Given the description of an element on the screen output the (x, y) to click on. 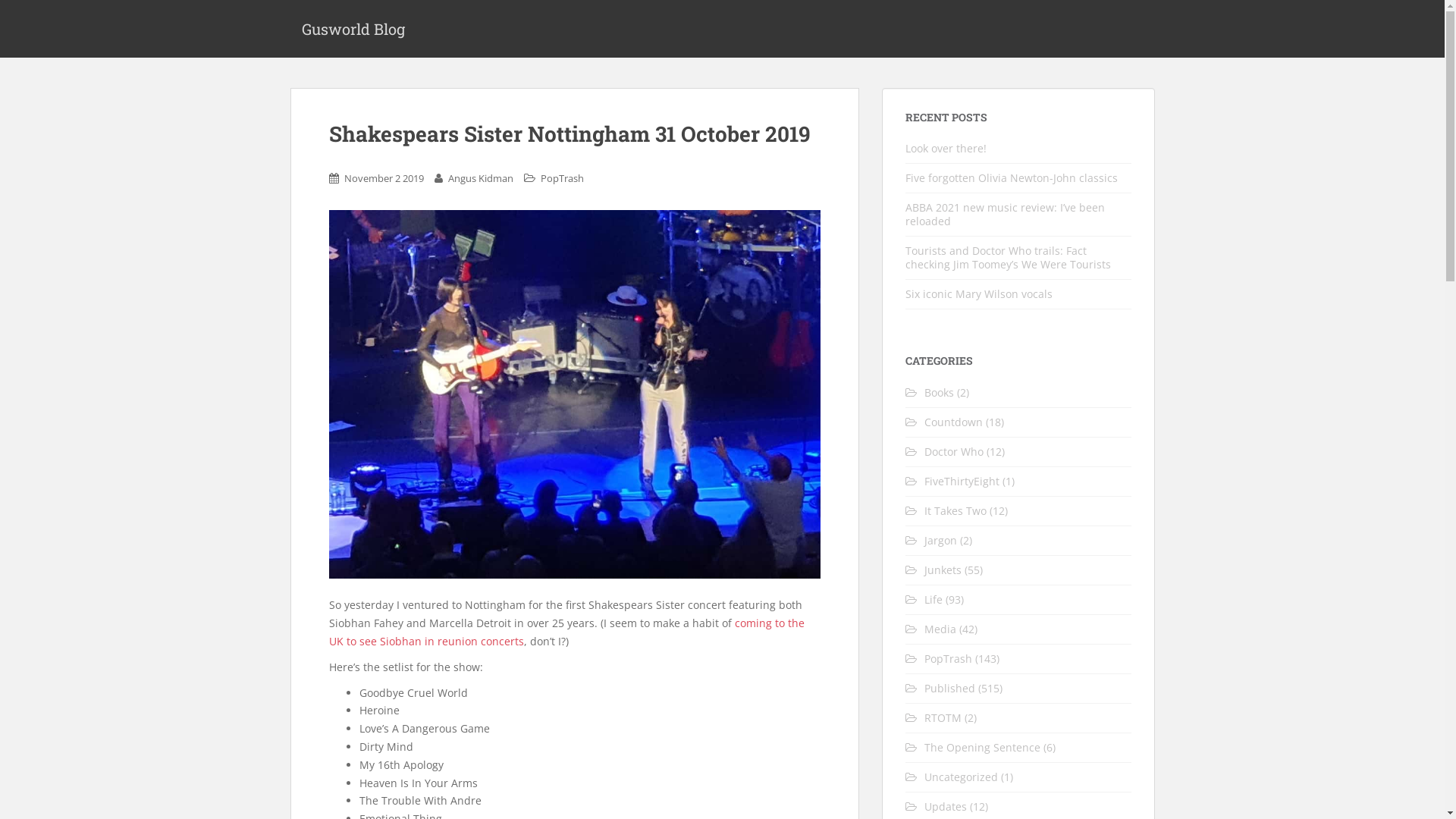
Angus Kidman Element type: text (479, 178)
FiveThirtyEight Element type: text (960, 480)
Six iconic Mary Wilson vocals Element type: text (978, 293)
Gusworld Blog Element type: text (352, 28)
The Opening Sentence Element type: text (981, 747)
Books Element type: text (938, 392)
Updates Element type: text (944, 806)
coming to the UK to see Siobhan in reunion concerts Element type: text (566, 631)
RTOTM Element type: text (941, 717)
Jargon Element type: text (939, 540)
Media Element type: text (939, 628)
Countdown Element type: text (952, 421)
PopTrash Element type: text (947, 658)
Five forgotten Olivia Newton-John classics Element type: text (1011, 177)
PopTrash Element type: text (561, 178)
November 2 2019 Element type: text (383, 178)
Junkets Element type: text (941, 569)
Doctor Who Element type: text (952, 451)
Life Element type: text (932, 599)
Published Element type: text (948, 687)
It Takes Two Element type: text (954, 510)
Uncategorized Element type: text (960, 776)
Look over there! Element type: text (945, 148)
